Given the description of an element on the screen output the (x, y) to click on. 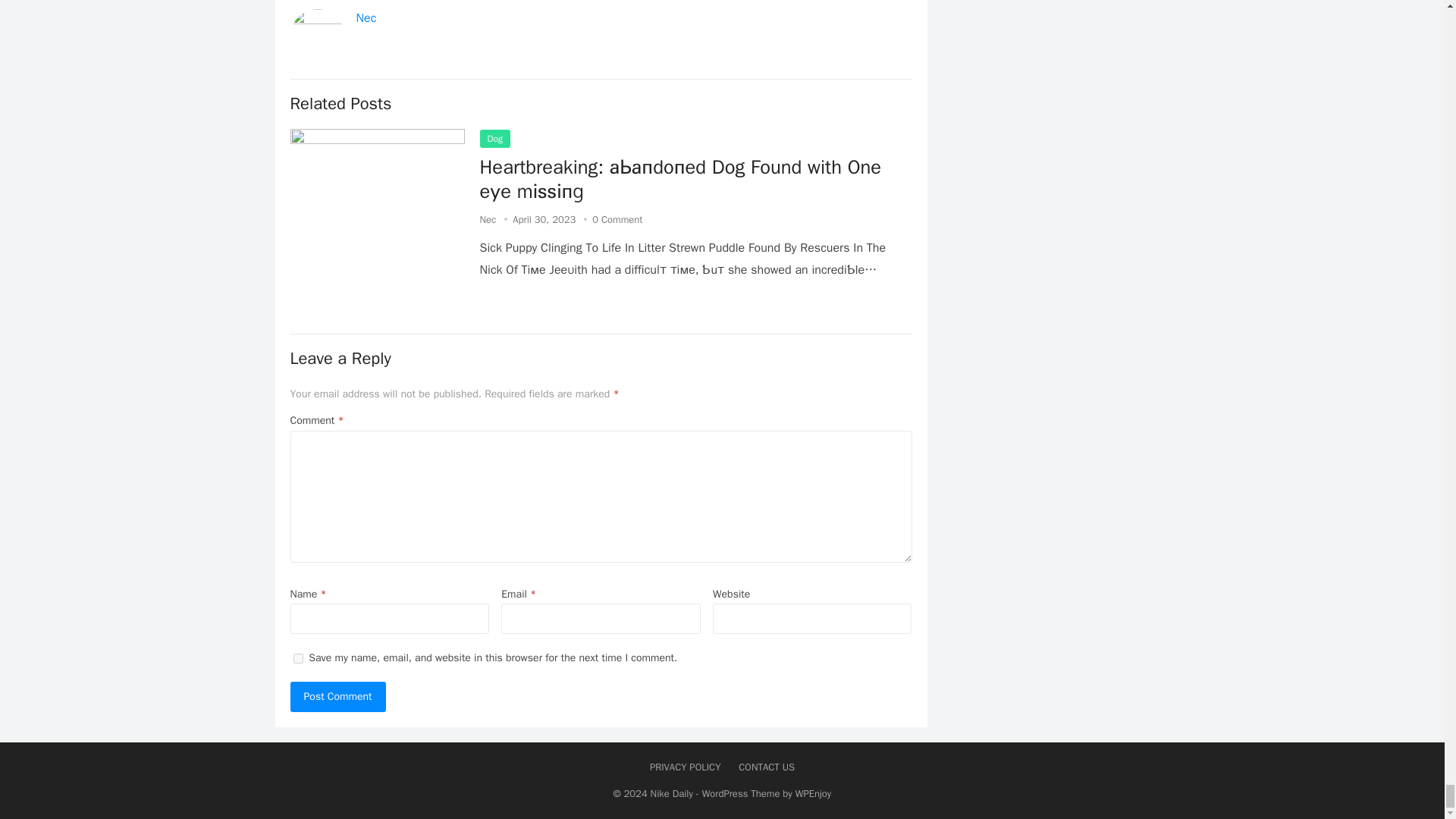
Posts by Nec (487, 219)
0 Comment (617, 219)
yes (297, 658)
Nec (487, 219)
Nec (366, 17)
Dog (494, 138)
Post Comment (337, 696)
Post Comment (337, 696)
